Given the description of an element on the screen output the (x, y) to click on. 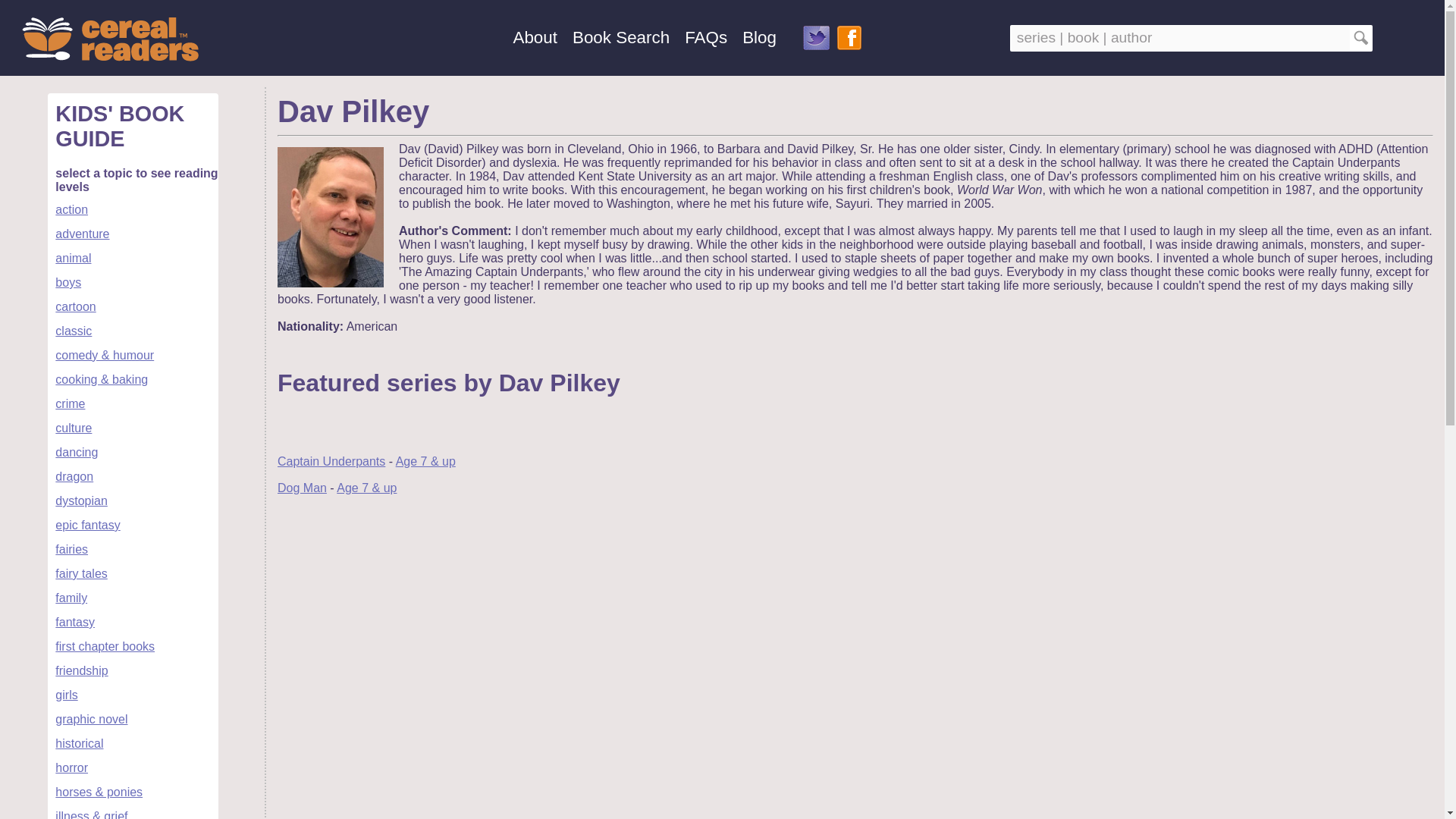
dragon (74, 476)
culture (73, 427)
Cereal Readers - Home Page (109, 40)
epic fantasy (87, 524)
fantasy (74, 621)
fairies (71, 549)
animal (72, 257)
action (71, 209)
first chapter books (104, 645)
Book Search (620, 36)
crime (69, 403)
boys (68, 282)
FAQs (705, 36)
fairy tales (80, 573)
graphic novel (91, 718)
